Given the description of an element on the screen output the (x, y) to click on. 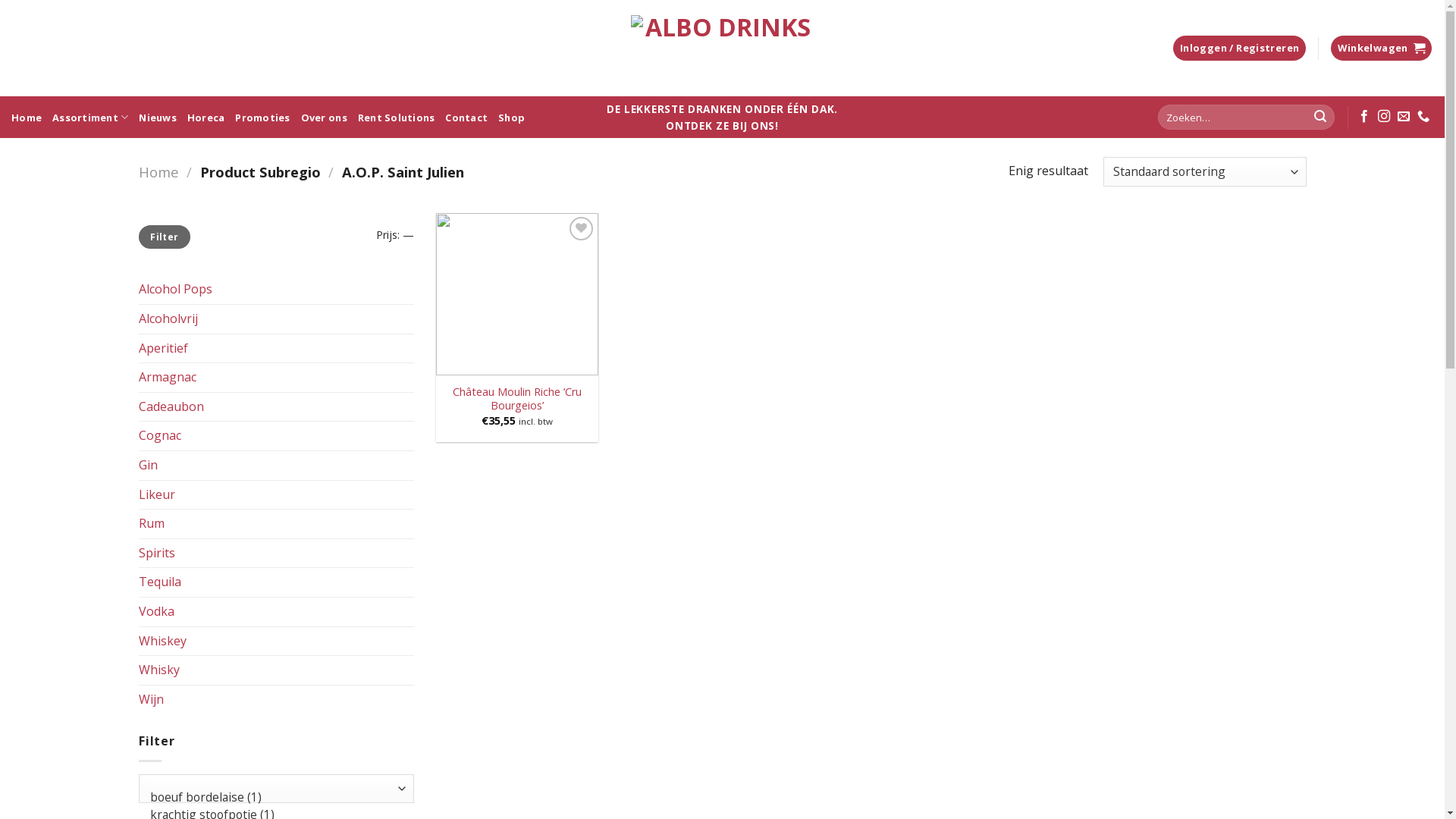
Alcoholvrij Element type: text (275, 318)
Bel ons Element type: hover (1423, 116)
Ga naar inhoud Element type: text (0, 0)
Vodka Element type: text (275, 611)
Whisky Element type: text (275, 669)
Cognac Element type: text (275, 435)
Horeca Element type: text (206, 116)
Armagnac Element type: text (275, 377)
Spirits Element type: text (275, 553)
Cadeaubon Element type: text (275, 406)
Wijn Element type: text (275, 699)
Nieuws Element type: text (157, 116)
Gin Element type: text (275, 465)
Alcohol Pops Element type: text (275, 289)
Contact Element type: text (466, 116)
Shop Element type: text (511, 116)
Stuur ons een e-mail Element type: hover (1403, 116)
Whiskey Element type: text (275, 640)
Winkelwagen Element type: text (1380, 47)
Promoties Element type: text (262, 116)
Inloggen / Registreren Element type: text (1239, 47)
Volg ons op Facebook Element type: hover (1364, 116)
Assortiment Element type: text (90, 116)
Zoeken Element type: text (1320, 117)
Tequila Element type: text (275, 581)
Likeur Element type: text (275, 494)
Rum Element type: text (275, 523)
Aperitief Element type: text (275, 348)
Over ons Element type: text (324, 116)
Volg ons op Instagram Element type: hover (1383, 116)
Home Element type: text (158, 171)
Home Element type: text (26, 116)
Filter Element type: text (163, 236)
Rent Solutions Element type: text (396, 116)
